Given the description of an element on the screen output the (x, y) to click on. 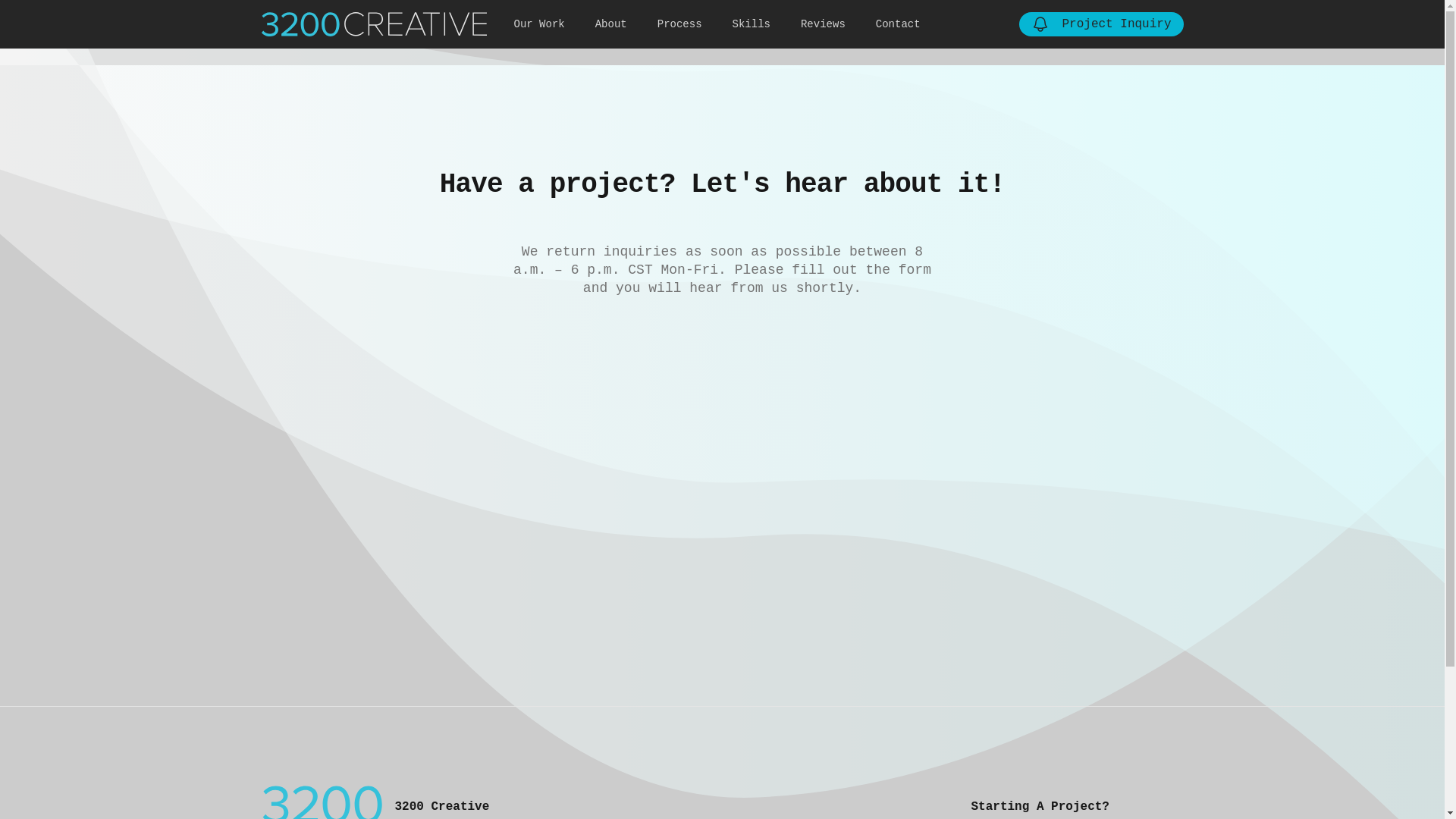
Process Element type: text (679, 23)
About Element type: text (611, 23)
Our Work Element type: text (539, 23)
Starting A Project? Element type: text (1039, 806)
Form Element type: hover (722, 501)
Reviews Element type: text (822, 23)
Project Inquiry
Project Inquiry Element type: text (1101, 24)
Skills Element type: text (751, 23)
Contact Element type: text (897, 23)
